Given the description of an element on the screen output the (x, y) to click on. 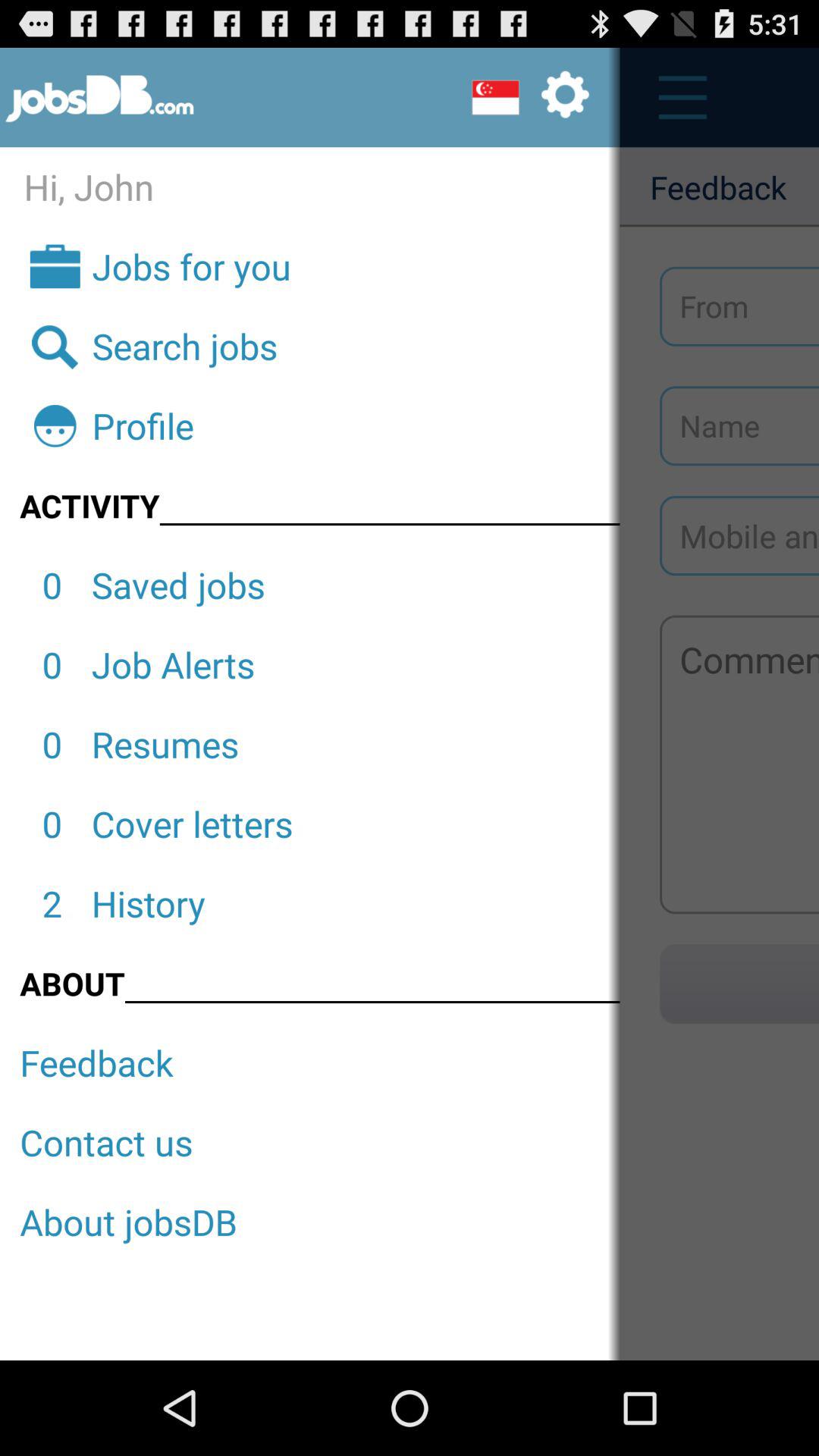
country options (530, 97)
